Given the description of an element on the screen output the (x, y) to click on. 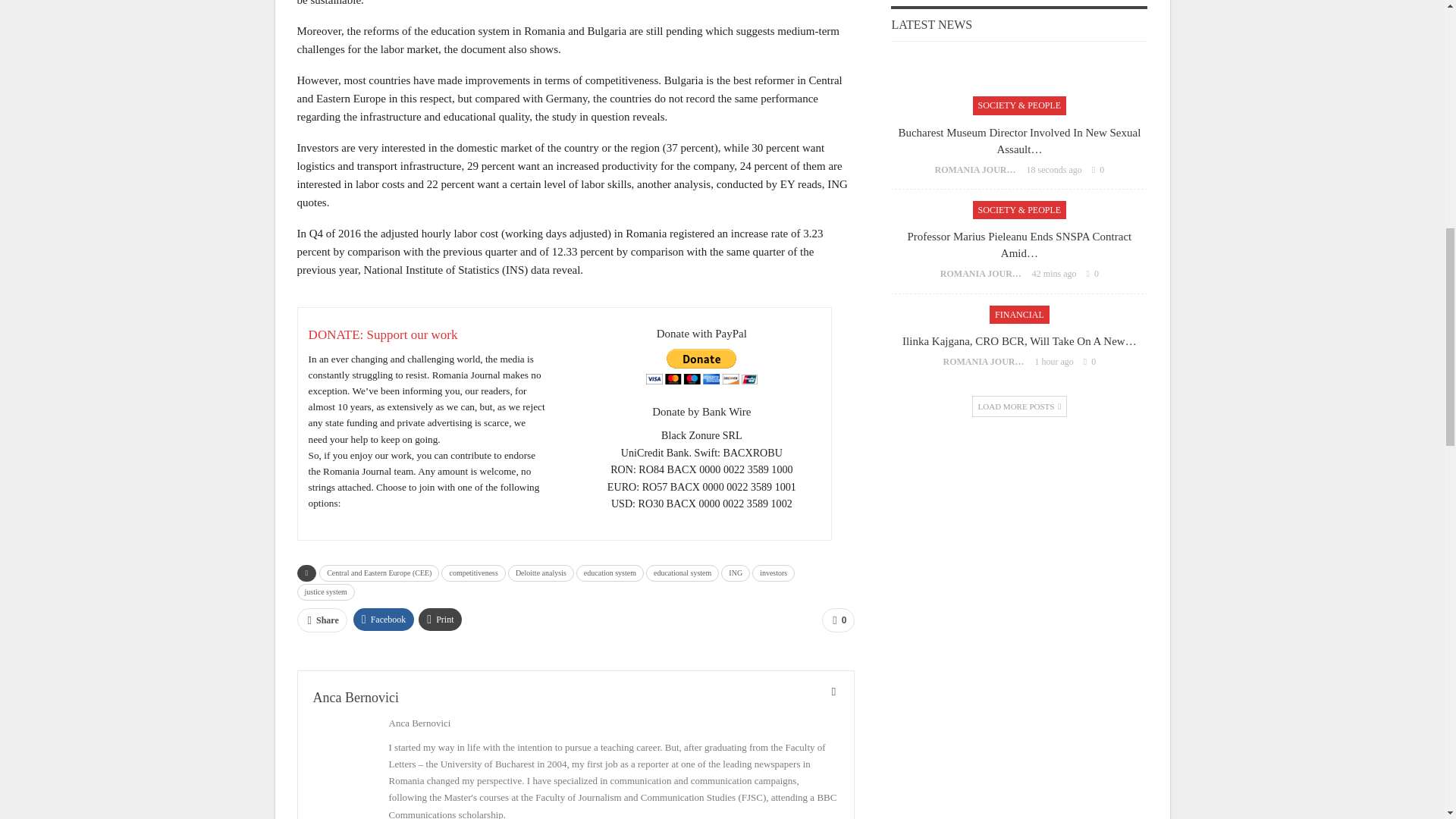
PayPal - The safer, easier way to pay online! (701, 366)
